Given the description of an element on the screen output the (x, y) to click on. 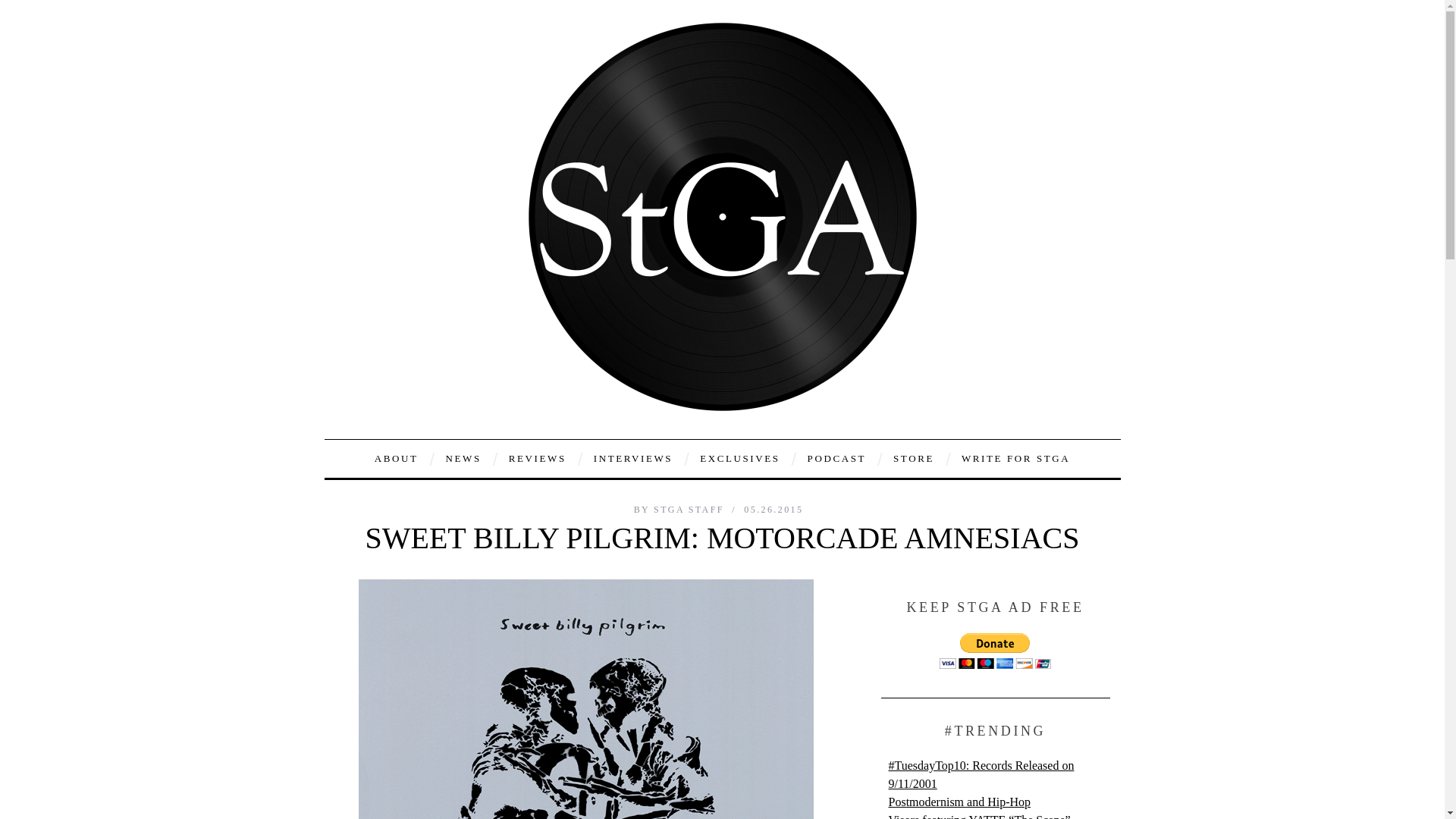
REVIEWS (537, 458)
WRITE FOR STGA (1015, 458)
INTERVIEWS (633, 458)
STORE (913, 458)
PODCAST (836, 458)
STGA STAFF (690, 509)
NEWS (463, 458)
ABOUT (395, 458)
EXCLUSIVES (739, 458)
